Given the description of an element on the screen output the (x, y) to click on. 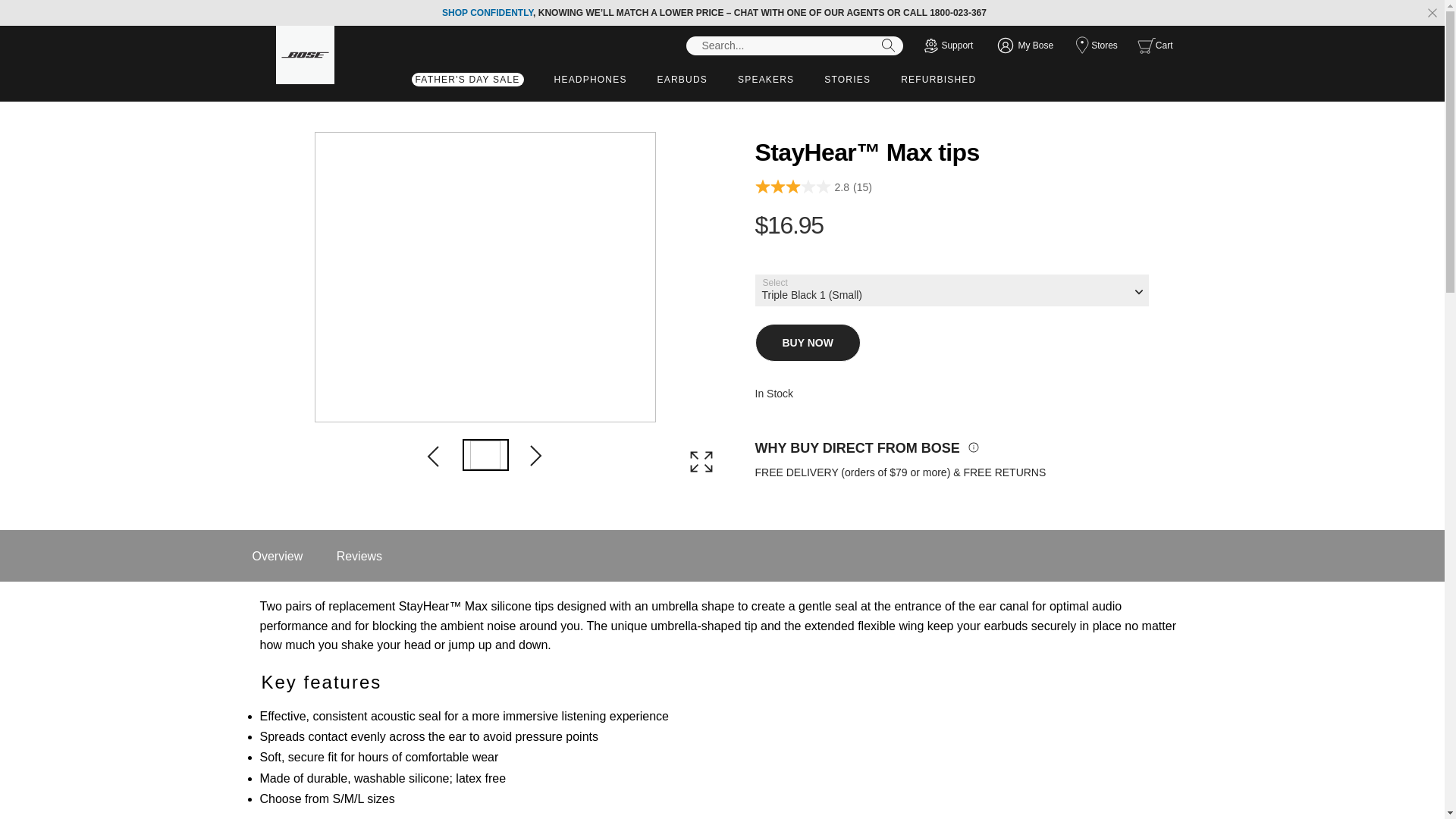
Father's Day Sale (467, 82)
Cart (1157, 45)
HEADPHONES (590, 79)
My Bose (1024, 45)
Bose (305, 54)
FATHER'S DAY SALE (467, 82)
Support (947, 45)
My Bose (1024, 45)
Headphones (590, 79)
Support (947, 45)
